Given the description of an element on the screen output the (x, y) to click on. 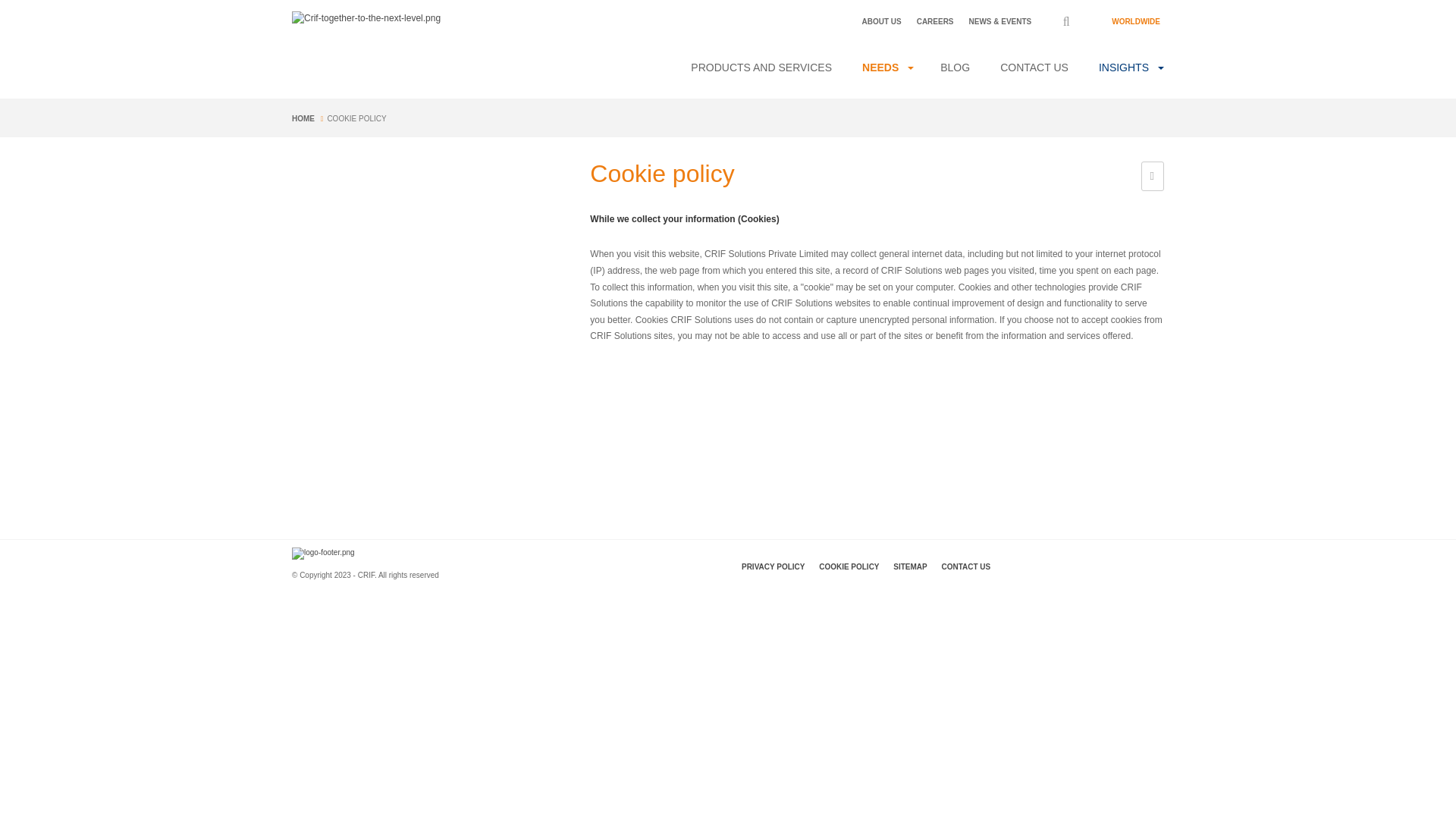
   WORLDWIDE (1127, 21)
CAREERS (935, 21)
ABOUT US (882, 21)
PRODUCTS AND SERVICES (761, 67)
BLOG (955, 67)
CONTACT US (1033, 67)
